Given the description of an element on the screen output the (x, y) to click on. 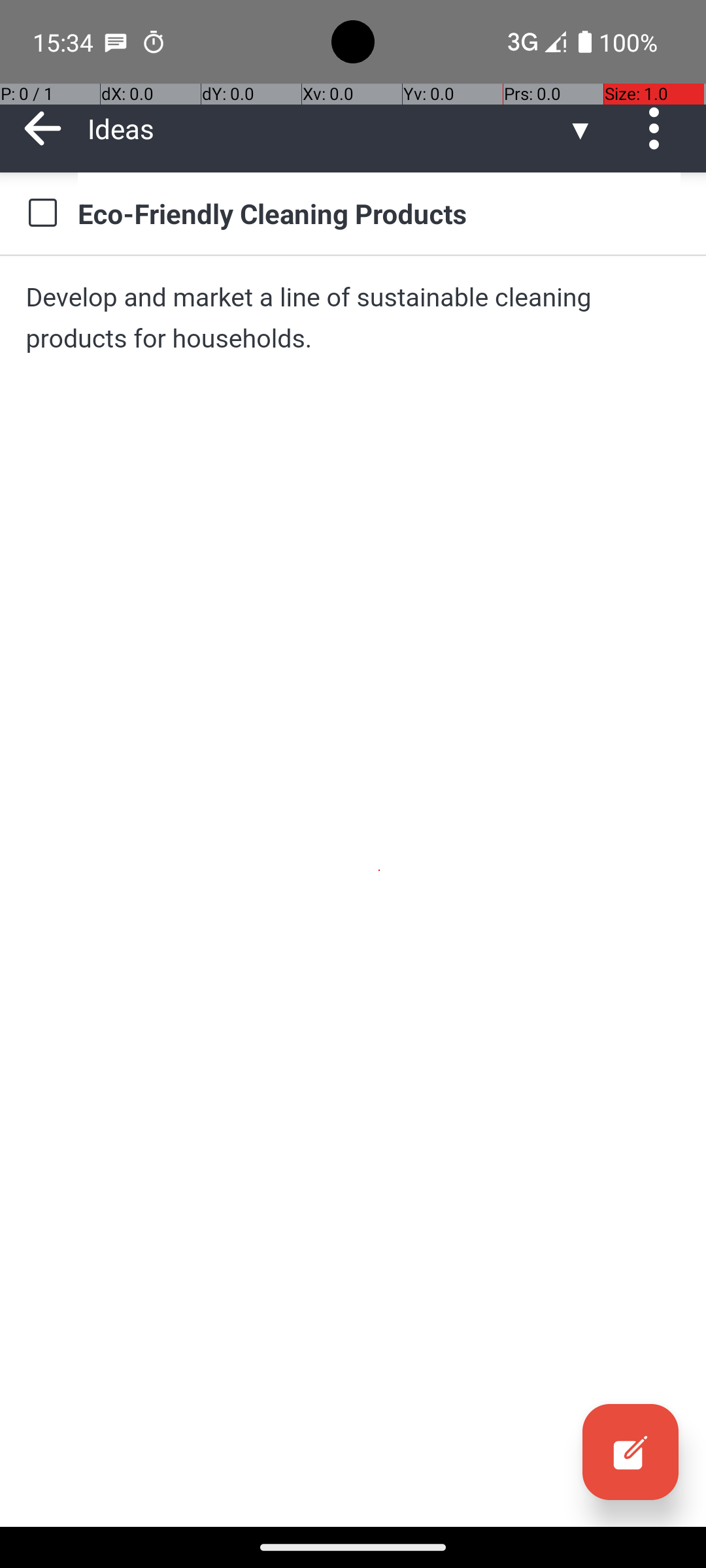
Eco-Friendly Cleaning Products Element type: android.widget.EditText (378, 213)
Edit, collapsed Element type: android.widget.Button (630, 1452)
 Element type: android.widget.TextView (42, 127)
Ideas Element type: android.widget.TextView (326, 128)
▼ Element type: android.widget.TextView (580, 128)
Actions Element type: android.view.ViewGroup (658, 127)
 Element type: android.widget.TextView (630, 1451)
 Element type: android.widget.TextView (658, 127)
Develop and market a line of sustainable cleaning products for households. Element type: android.widget.TextView (352, 317)
